Given the description of an element on the screen output the (x, y) to click on. 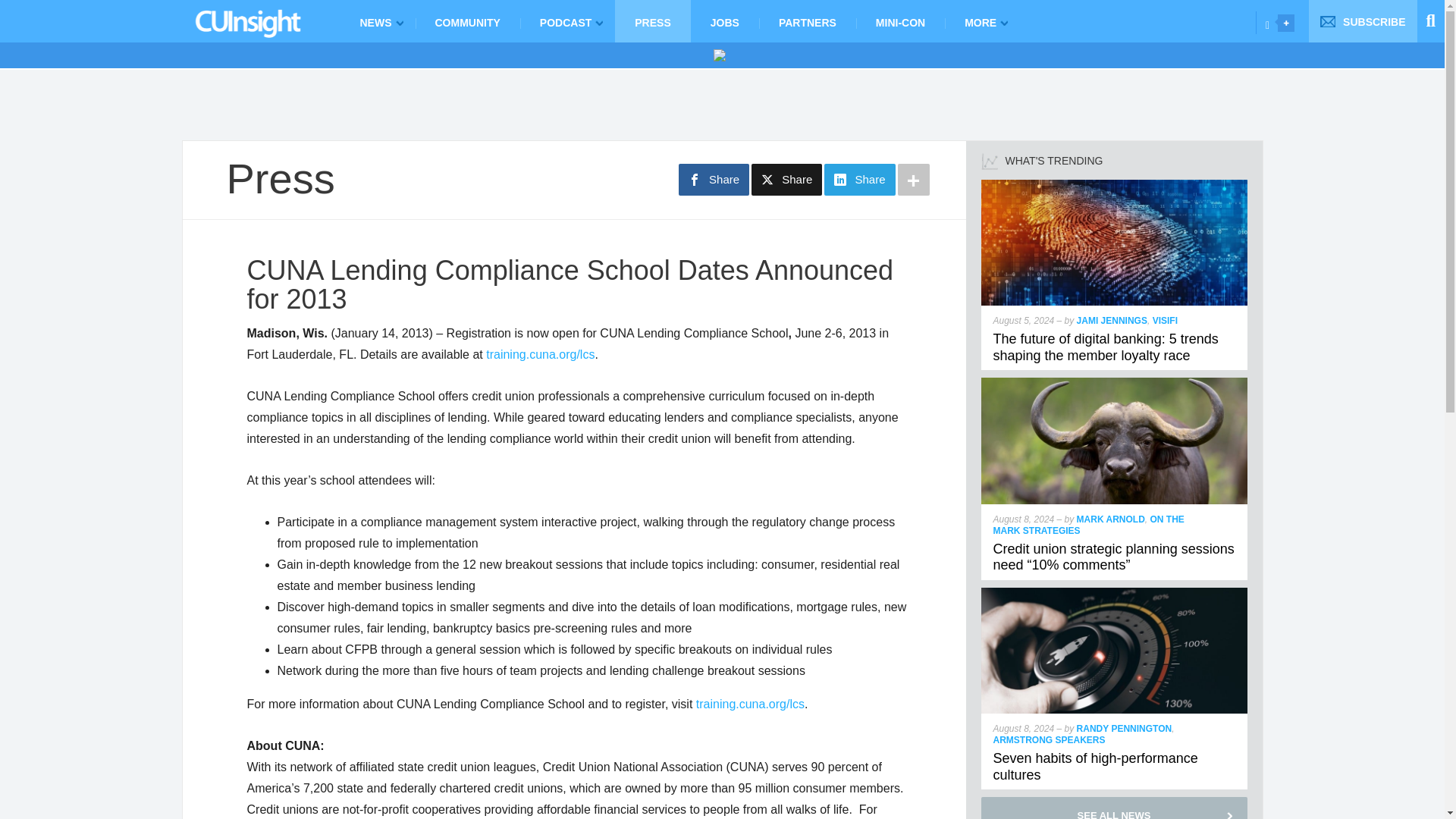
PODCAST (566, 21)
Share (859, 179)
Share (786, 179)
SUBSCRIBE (1362, 21)
Opener (1286, 22)
MINI-CON (900, 21)
Seven habits of high-performance cultures (1095, 766)
MORE (982, 21)
JOBS (724, 21)
